Given the description of an element on the screen output the (x, y) to click on. 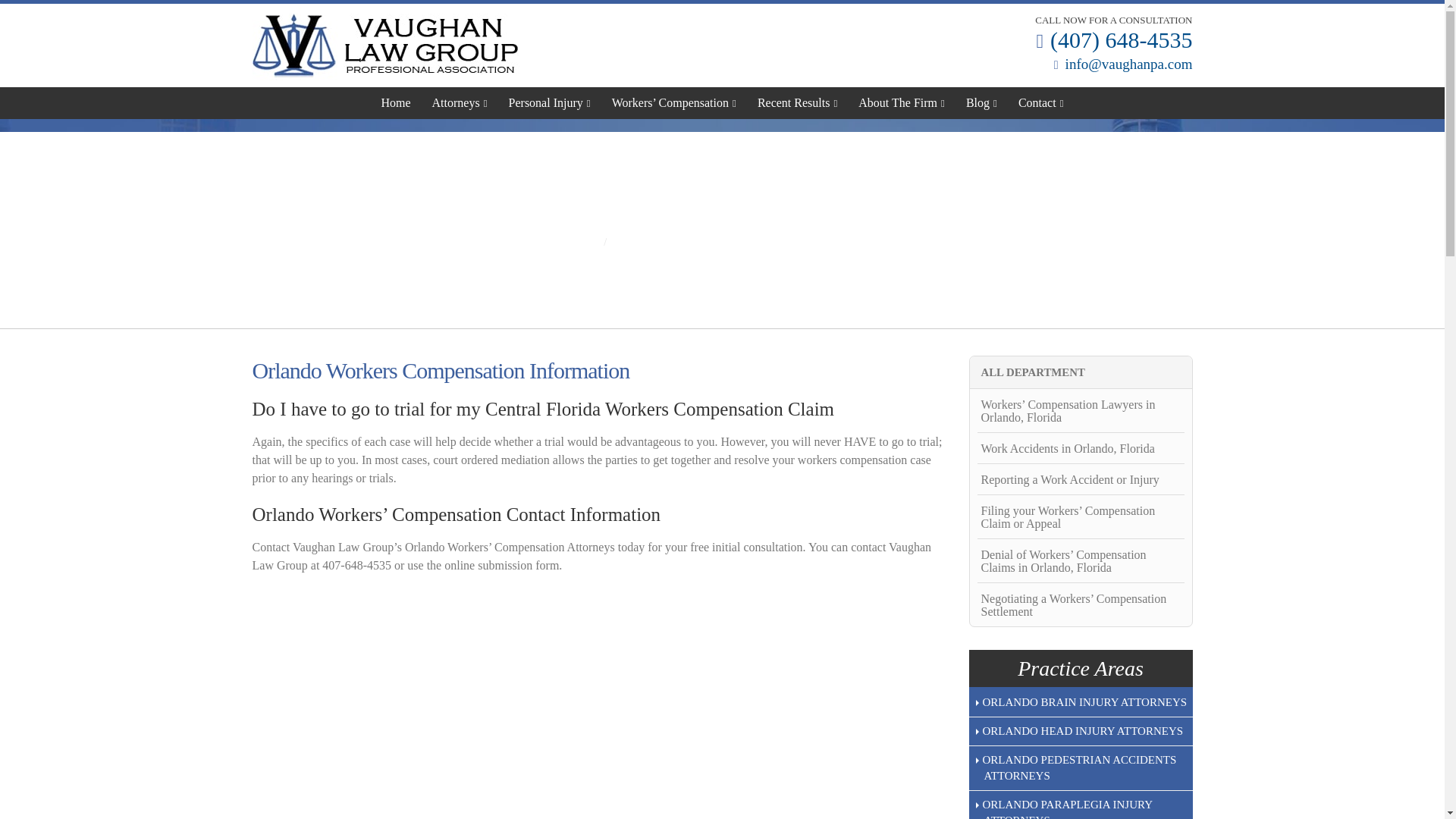
Home (395, 102)
Personal Injury (549, 102)
Attorneys (459, 102)
